Given the description of an element on the screen output the (x, y) to click on. 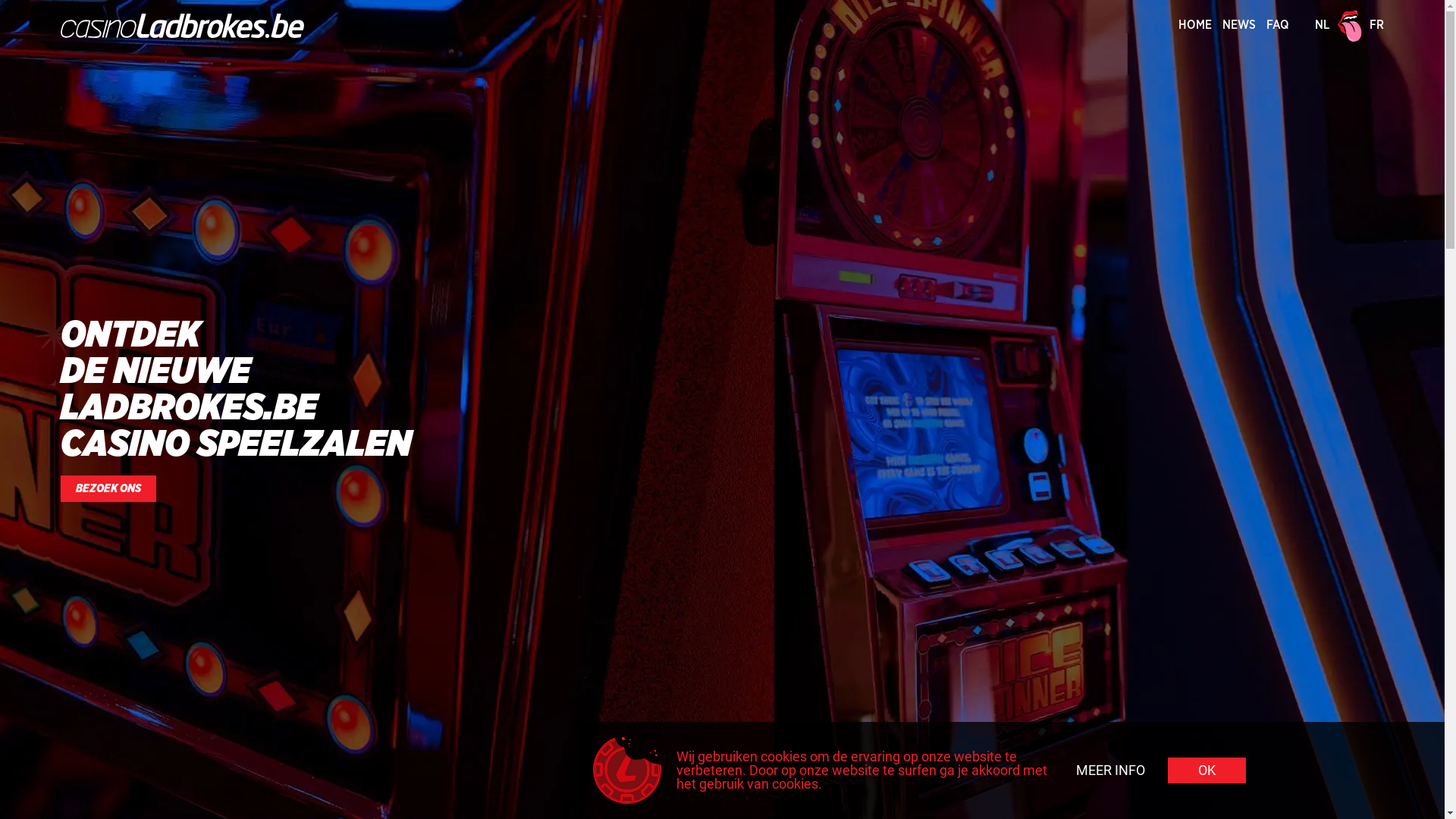
BEZOEK ONS Element type: text (108, 487)
MEER INFO Element type: text (1109, 770)
NL Element type: text (1321, 24)
FR Element type: text (1376, 24)
NEWS Element type: text (1238, 24)
HOME Element type: text (1194, 24)
FAQ Element type: text (1277, 24)
